Given the description of an element on the screen output the (x, y) to click on. 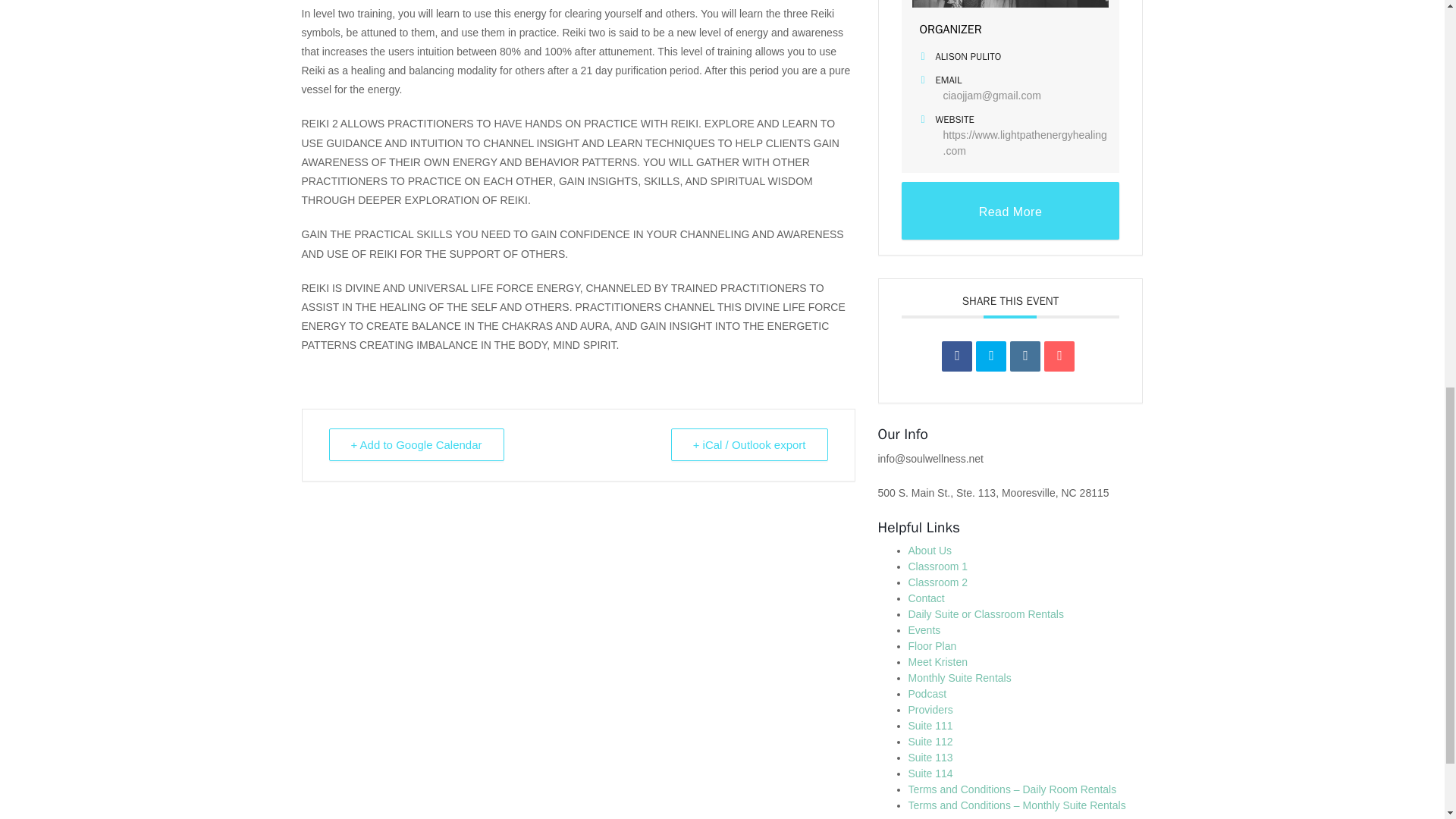
Podcast (927, 693)
Monthly Suite Rentals (959, 677)
Floor Plan (932, 645)
Share on Facebook (957, 356)
Classroom 2 (938, 582)
Suite 113 (930, 757)
Read More (1010, 210)
Tweet (990, 356)
Meet Kristen (938, 662)
Email (1058, 356)
